Given the description of an element on the screen output the (x, y) to click on. 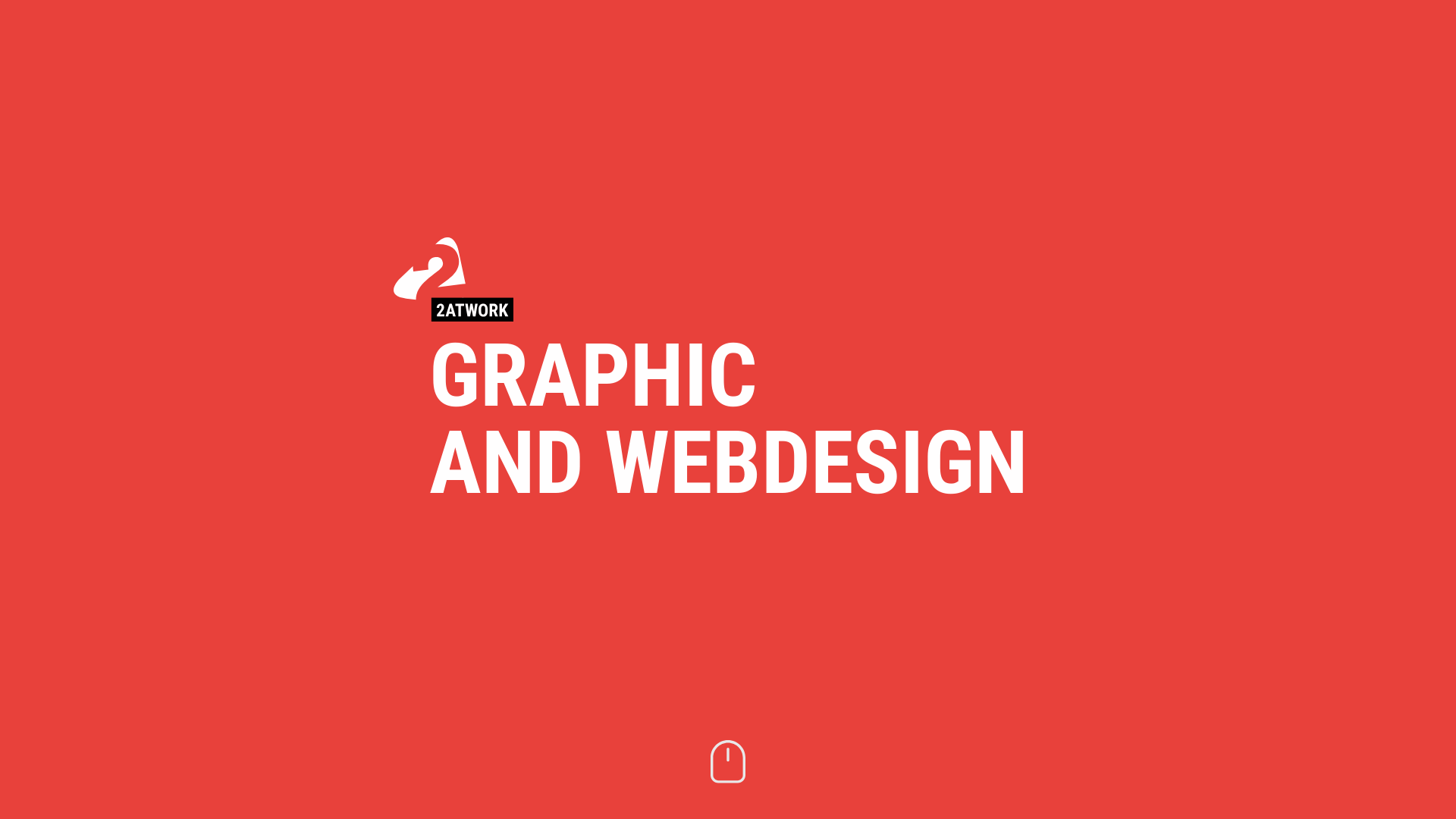
Next Element type: text (727, 762)
GRAPHIC
AND WEBDESIGN Element type: text (728, 483)
